Given the description of an element on the screen output the (x, y) to click on. 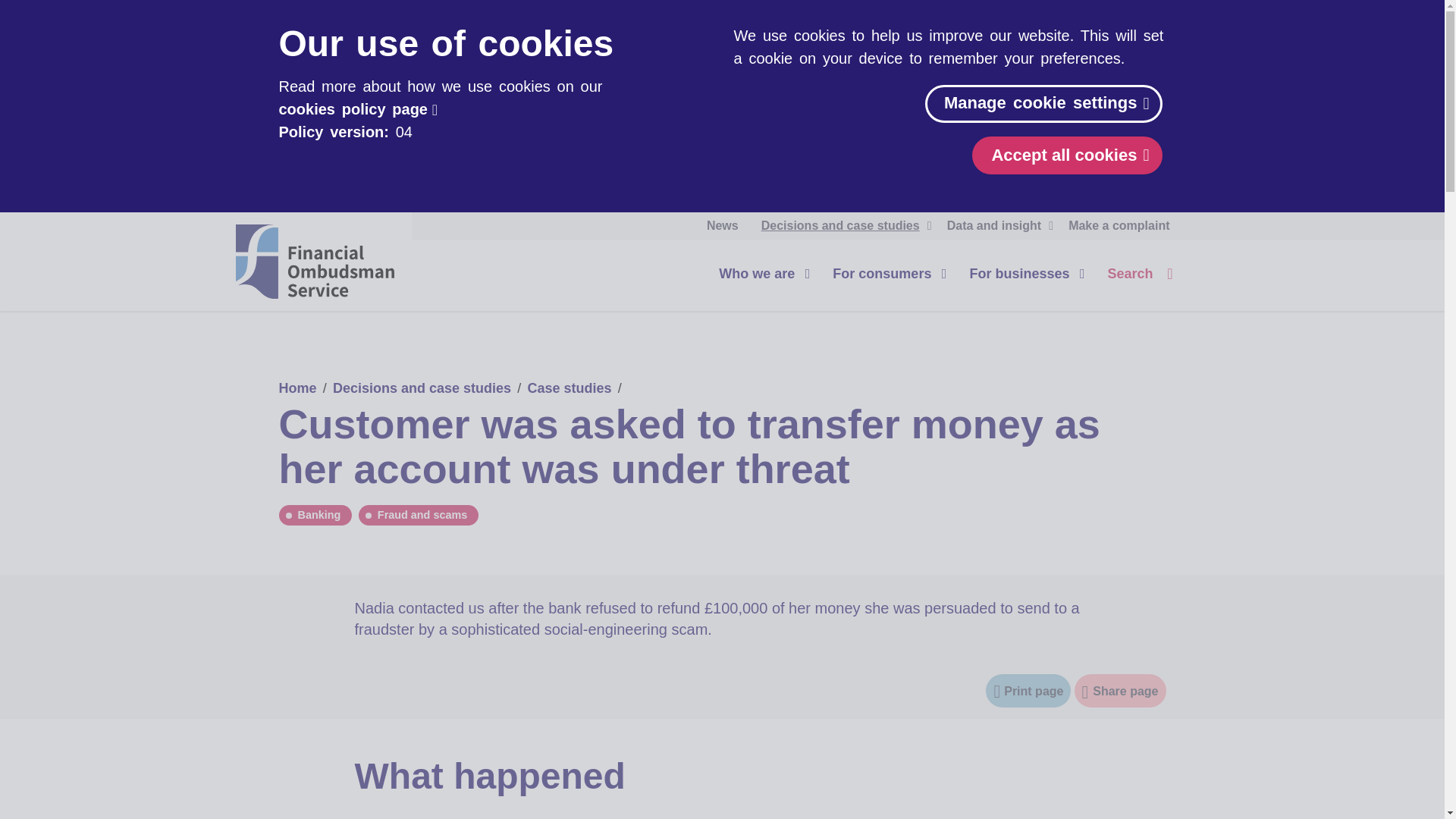
cookies policy page (358, 108)
Data and insight (995, 225)
Decisions and case studies (842, 225)
Financial Ombudsman service (314, 261)
Accept all cookies (1066, 155)
Make a complaint (1118, 225)
News (721, 225)
Manage cookie settings (1042, 103)
Who we are (760, 273)
